Given the description of an element on the screen output the (x, y) to click on. 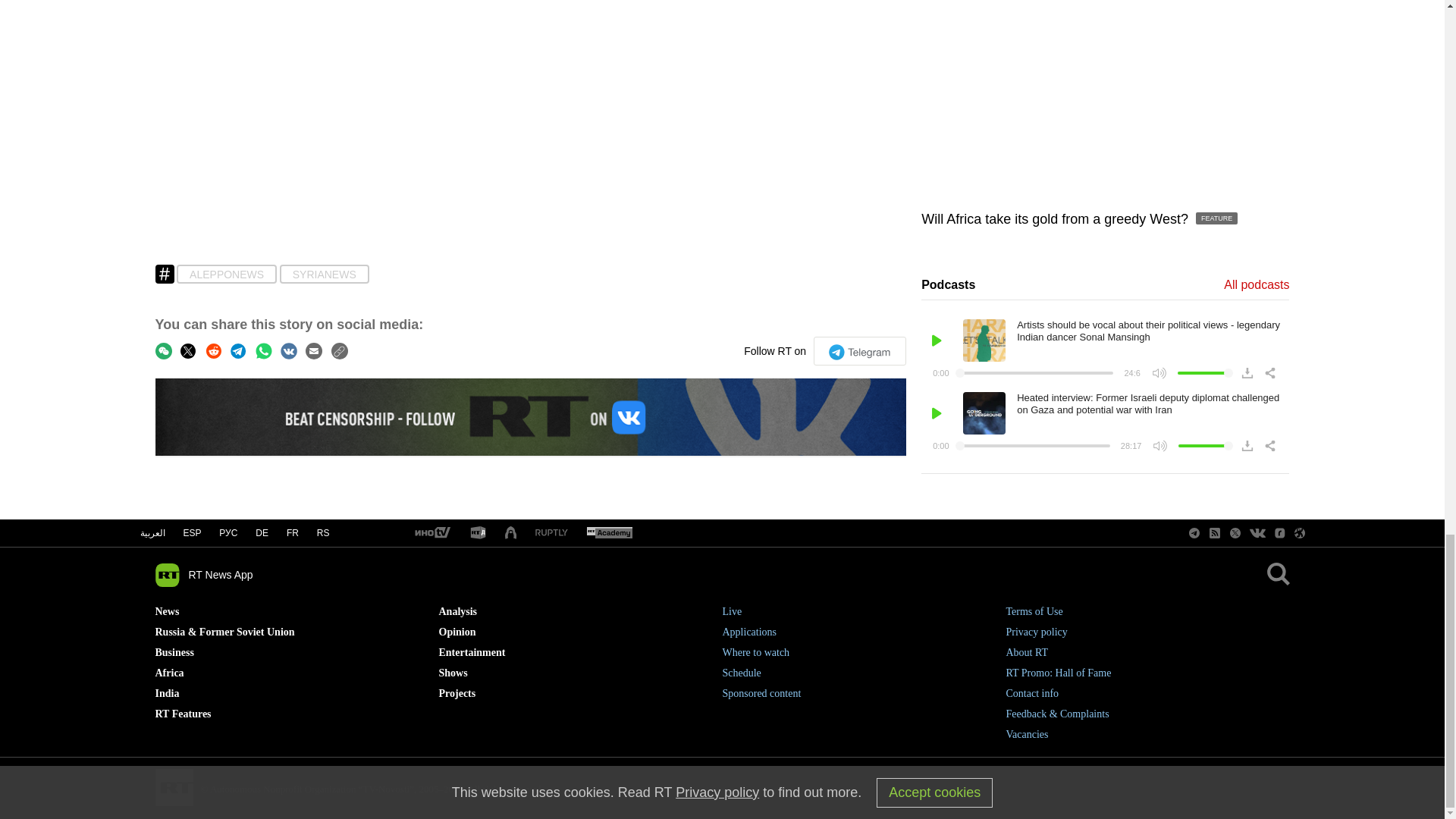
RT  (608, 533)
RT  (551, 533)
RT  (478, 533)
RT  (431, 533)
